Given the description of an element on the screen output the (x, y) to click on. 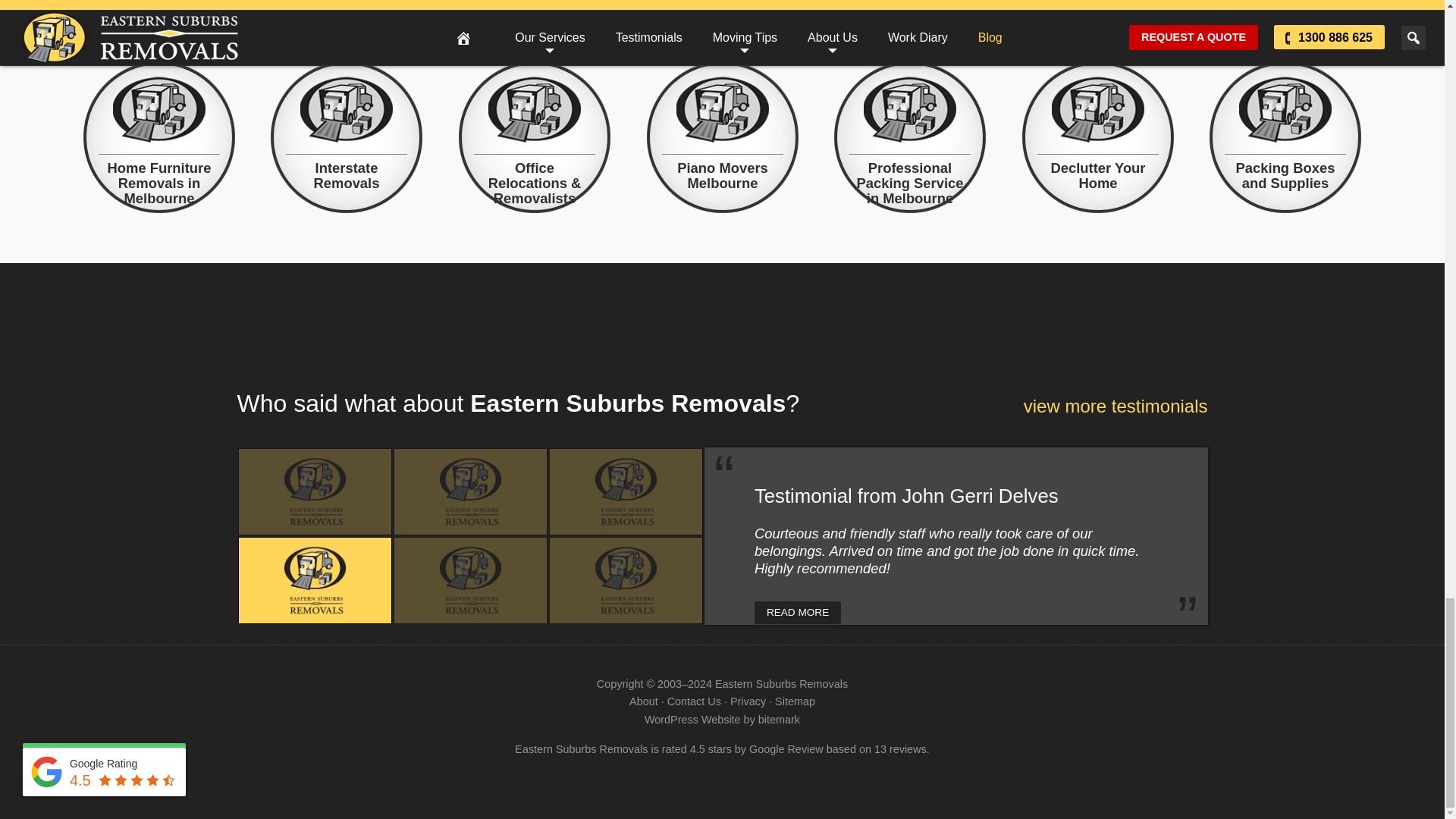
Declutter Your Home (1097, 140)
Testimonial from Brian and Corinne (313, 491)
view more testimonials (1115, 406)
Piano Movers Melbourne (721, 140)
Packing Boxes and Supplies (1285, 140)
Interstate Removals (346, 140)
Home Furniture Removals in Melbourne (158, 140)
Professional Packing Service in Melbourne (909, 140)
